Given the description of an element on the screen output the (x, y) to click on. 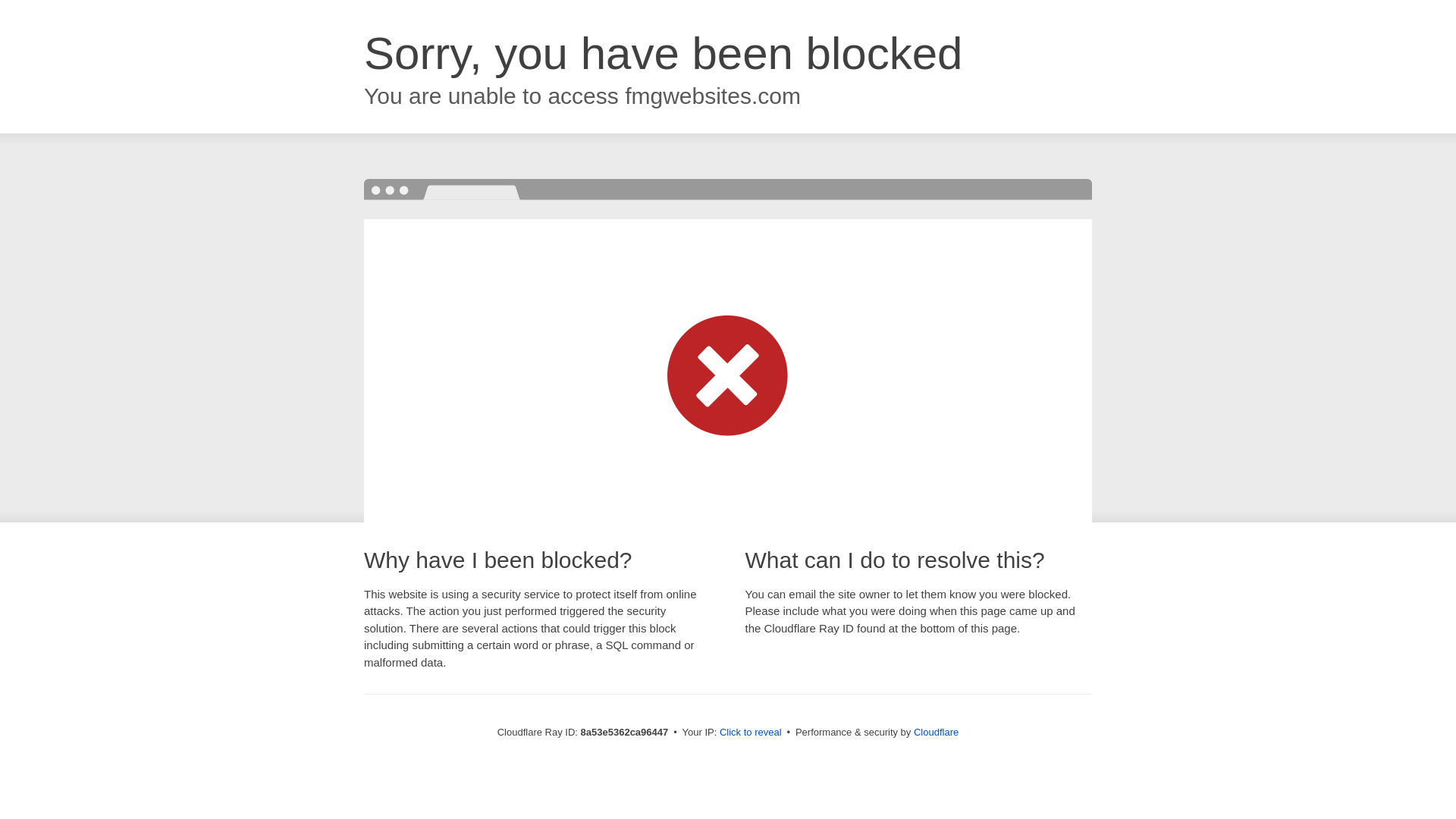
Click to reveal (750, 732)
Cloudflare (936, 731)
